Given the description of an element on the screen output the (x, y) to click on. 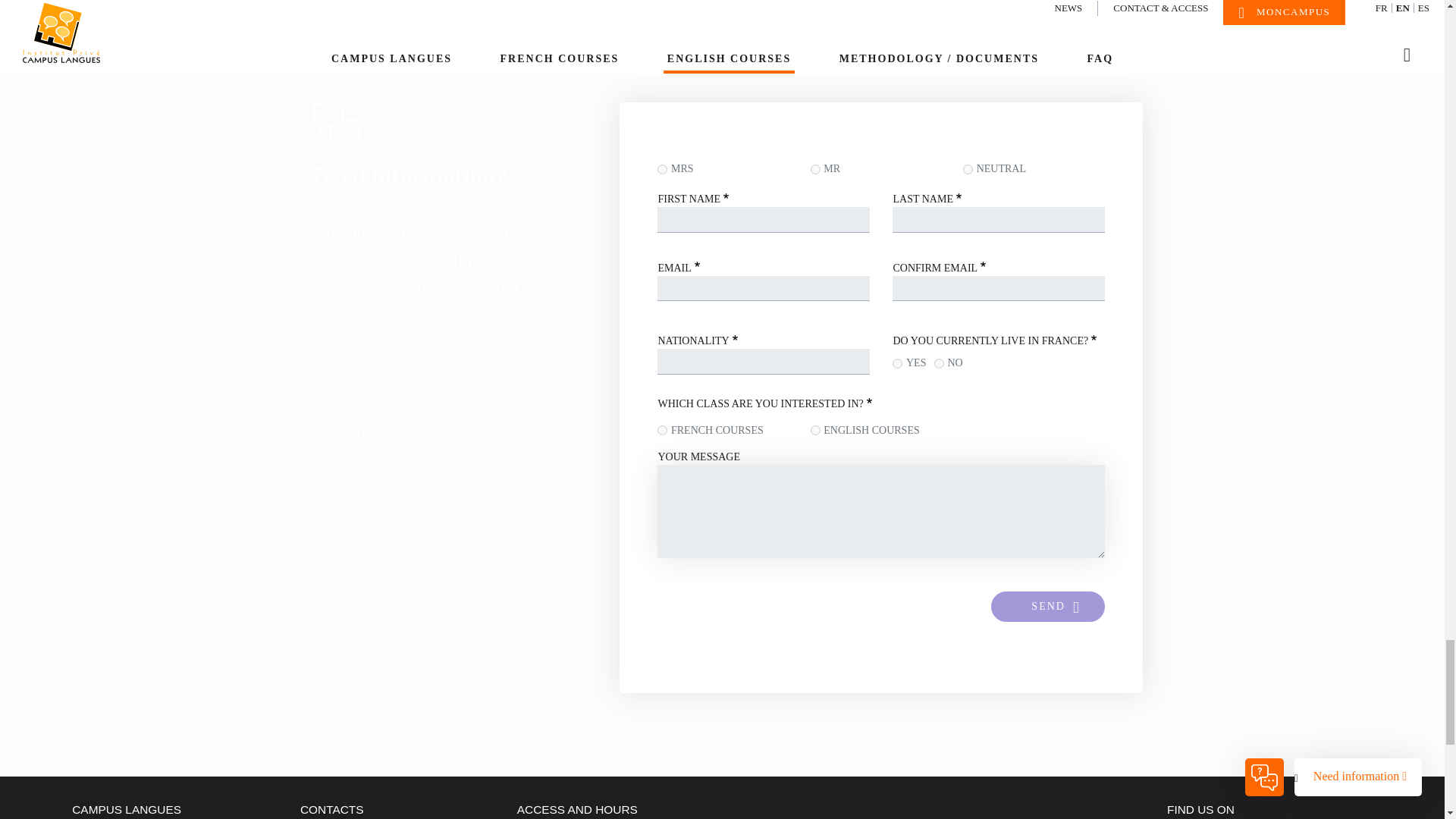
Non (938, 363)
Oui (897, 363)
Anglais (815, 429)
Neutre (967, 169)
Monsieur (815, 169)
Madame (662, 169)
